Given the description of an element on the screen output the (x, y) to click on. 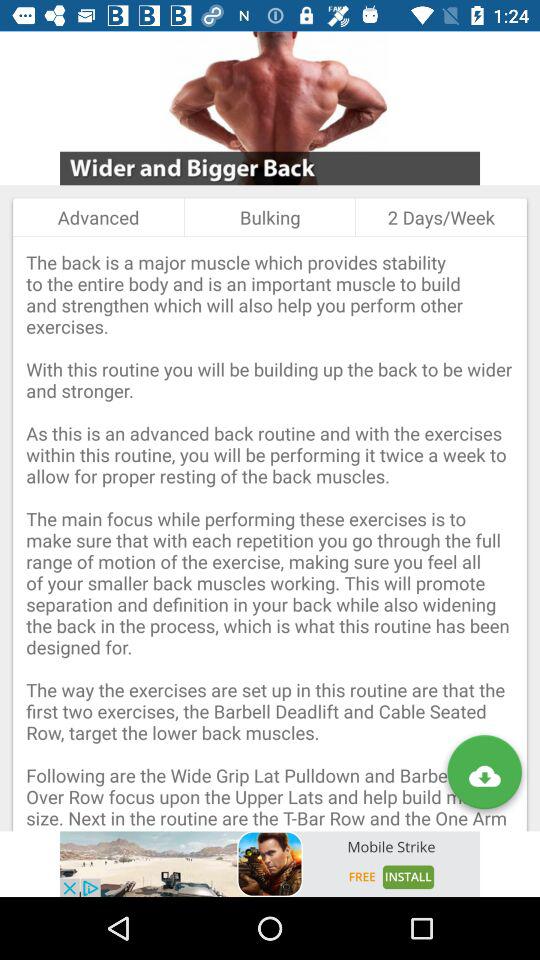
jump until the back is (269, 534)
